Given the description of an element on the screen output the (x, y) to click on. 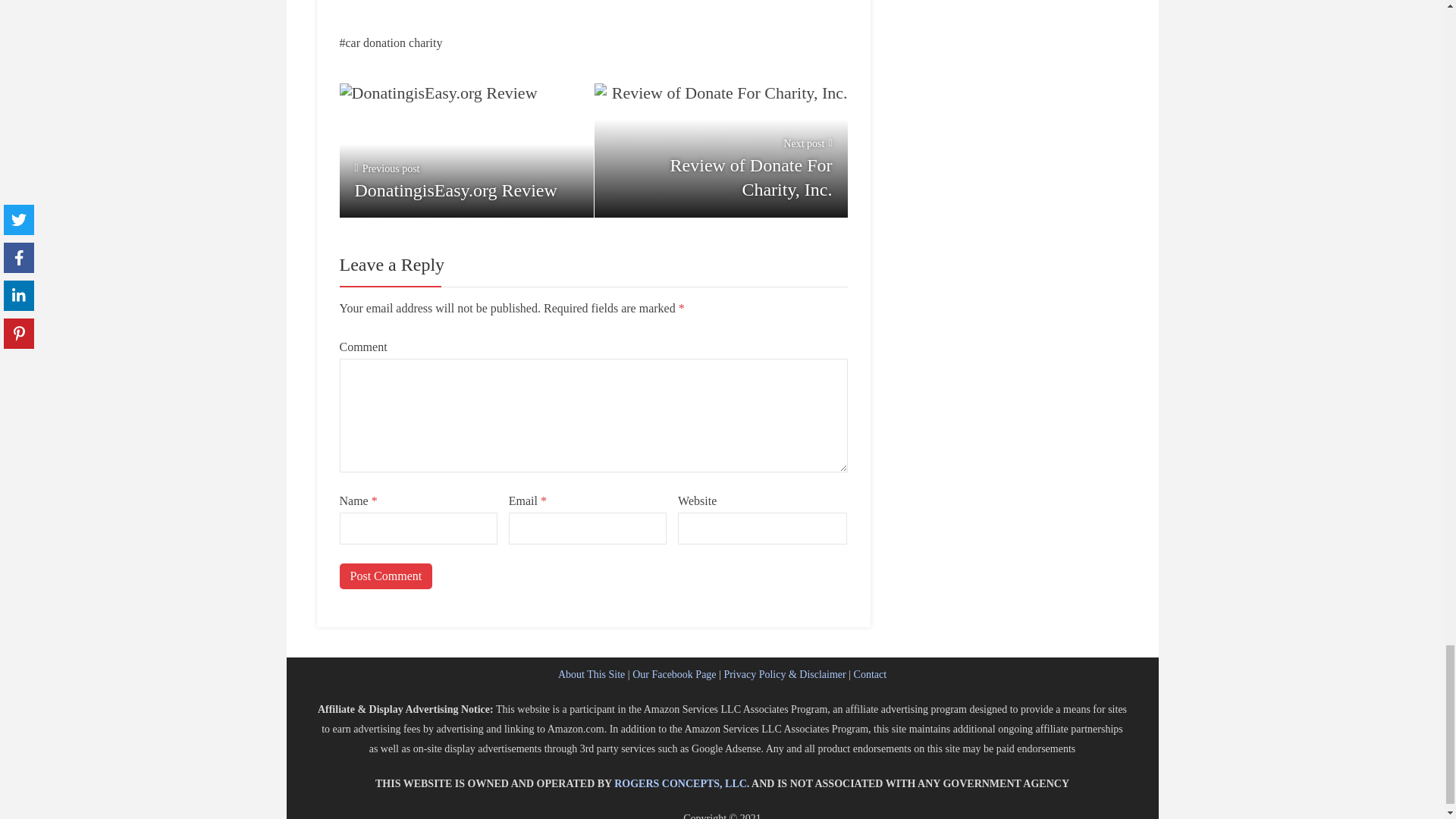
Post Comment (385, 575)
